Given the description of an element on the screen output the (x, y) to click on. 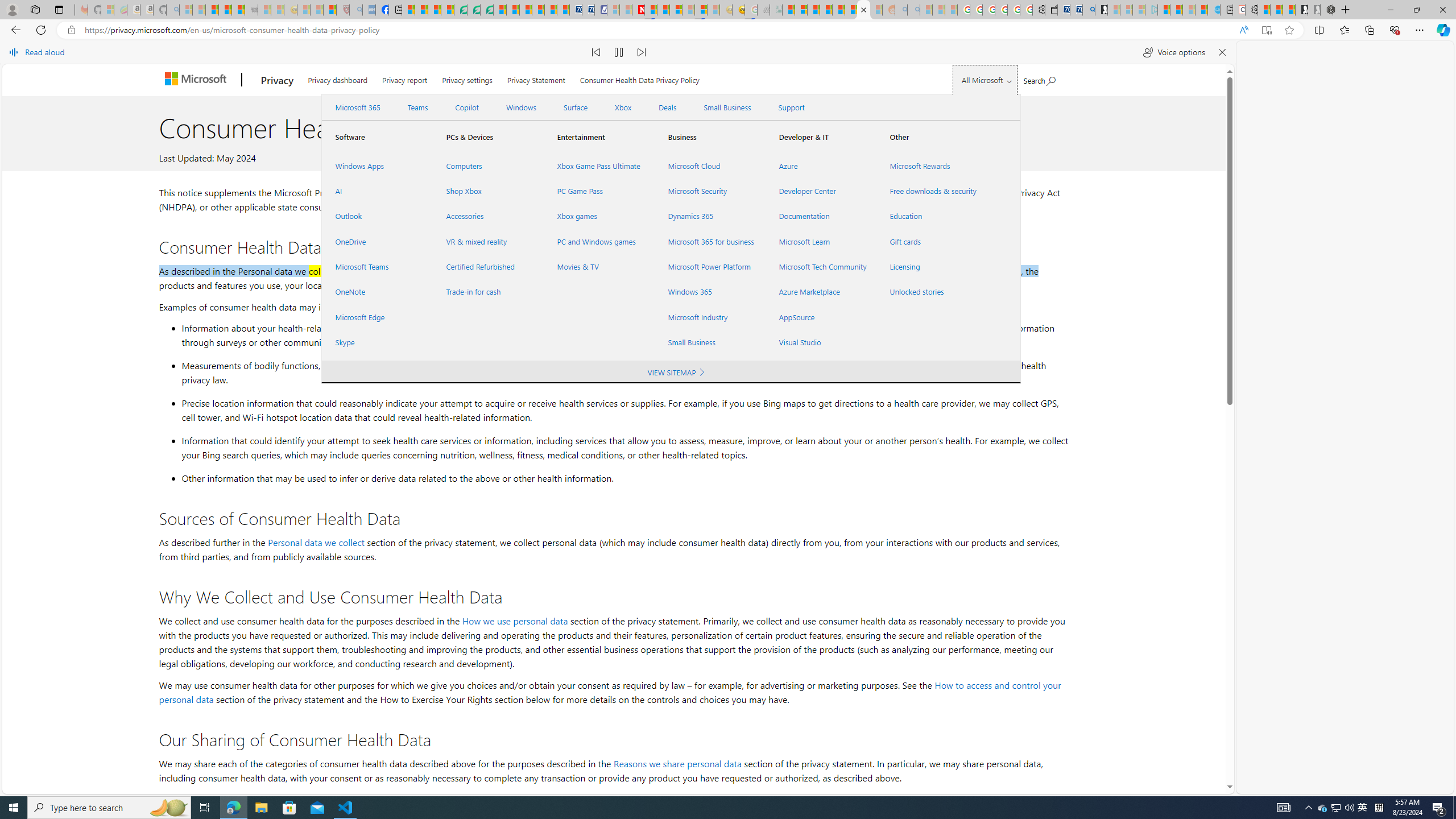
Wallet (1050, 9)
Dynamics 365 (709, 216)
Xbox (623, 107)
AI (376, 190)
World - MSN (434, 9)
